Given the description of an element on the screen output the (x, y) to click on. 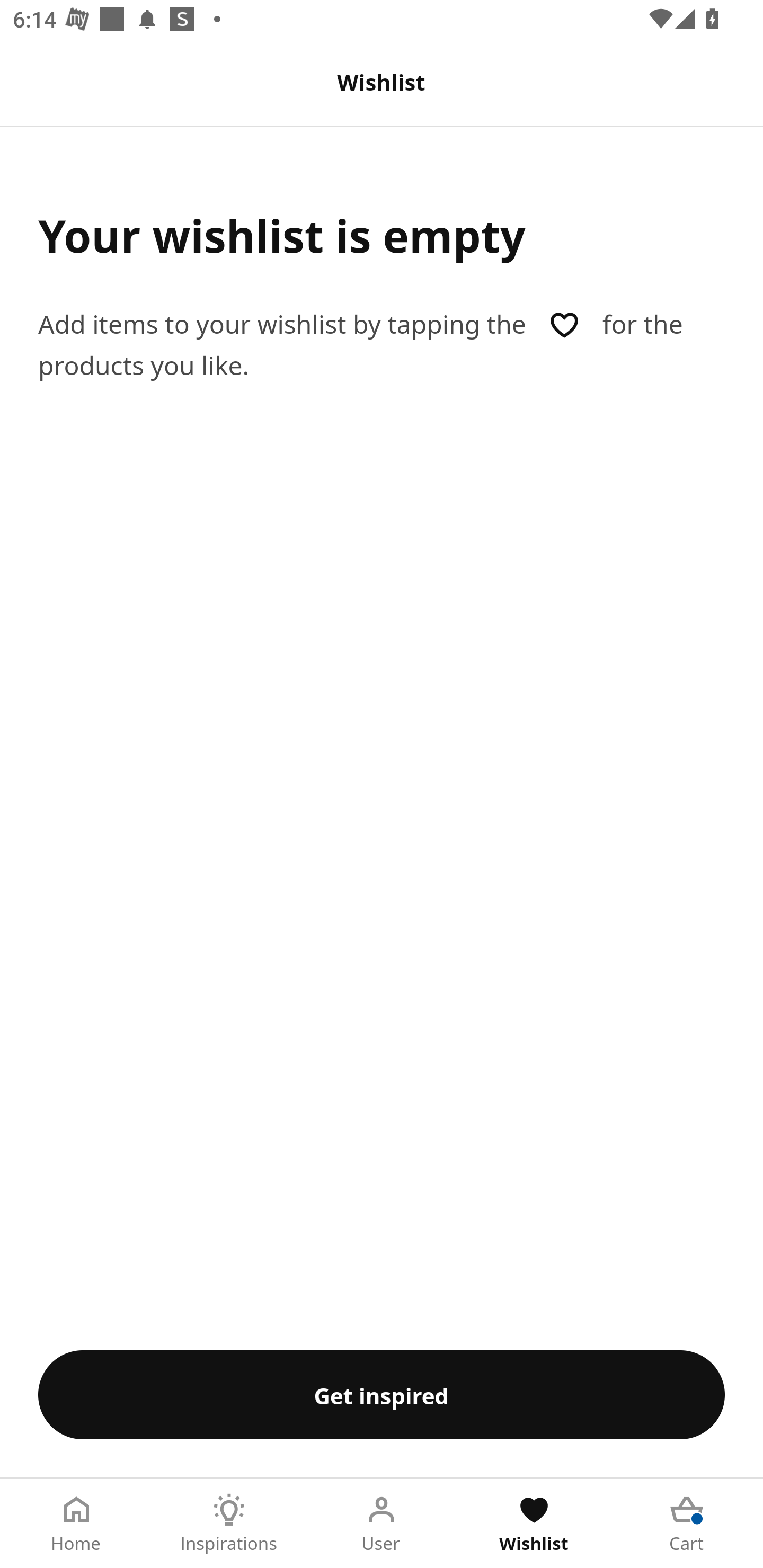
Get inspired (381, 1394)
Home
Tab 1 of 5 (76, 1522)
Inspirations
Tab 2 of 5 (228, 1522)
User
Tab 3 of 5 (381, 1522)
Wishlist
Tab 4 of 5 (533, 1522)
Cart
Tab 5 of 5 (686, 1522)
